Given the description of an element on the screen output the (x, y) to click on. 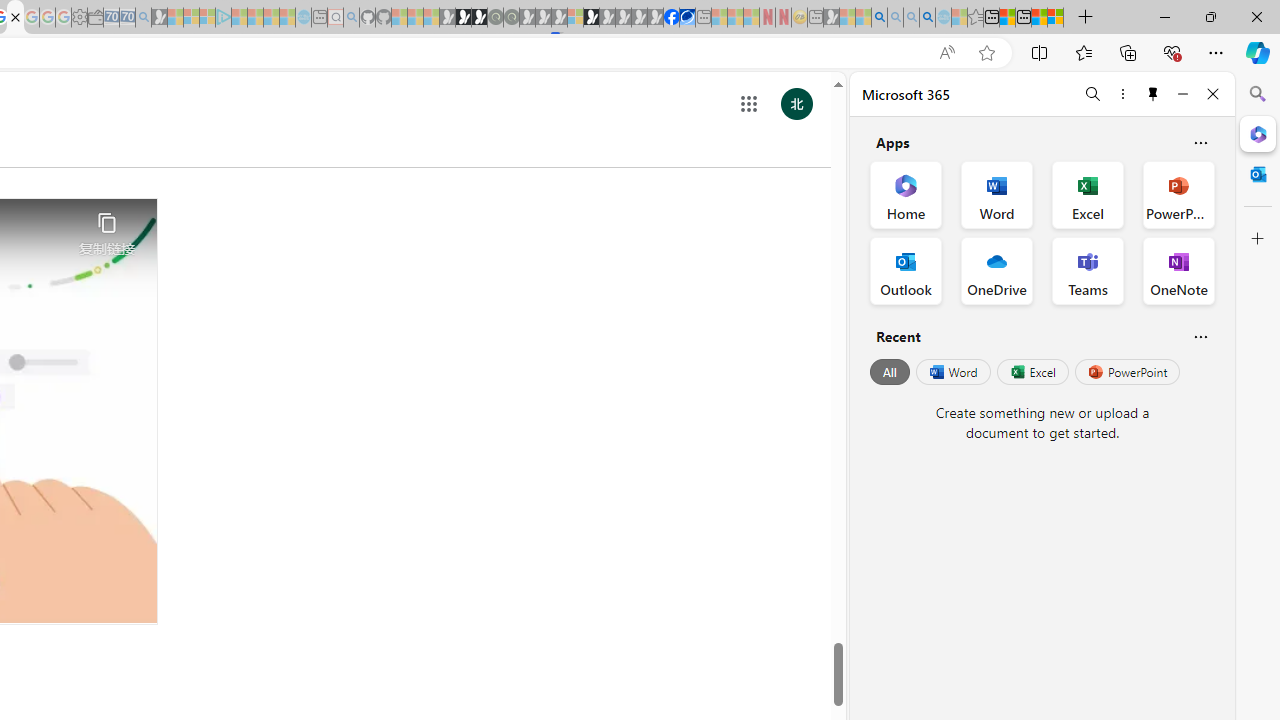
PowerPoint (1127, 372)
Home Office App (906, 194)
Outlook Office App (906, 270)
PowerPoint Office App (1178, 194)
Close Microsoft 365 pane (1258, 133)
OneNote Office App (1178, 270)
